Given the description of an element on the screen output the (x, y) to click on. 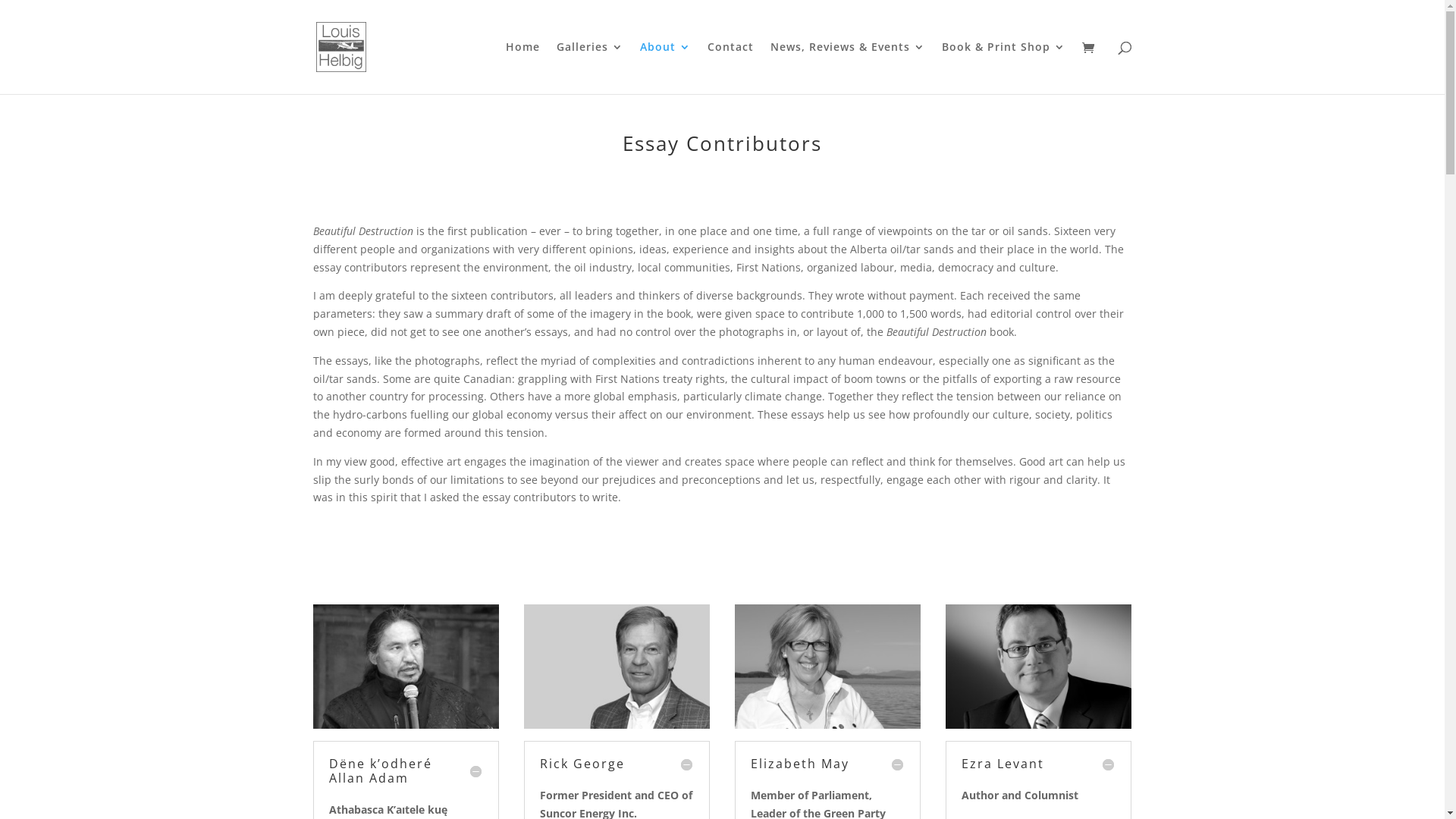
News, Reviews & Events Element type: text (847, 67)
Home Element type: text (522, 67)
Contact Element type: text (729, 67)
Galleries Element type: text (589, 67)
Book & Print Shop Element type: text (1003, 67)
About Element type: text (665, 67)
